Given the description of an element on the screen output the (x, y) to click on. 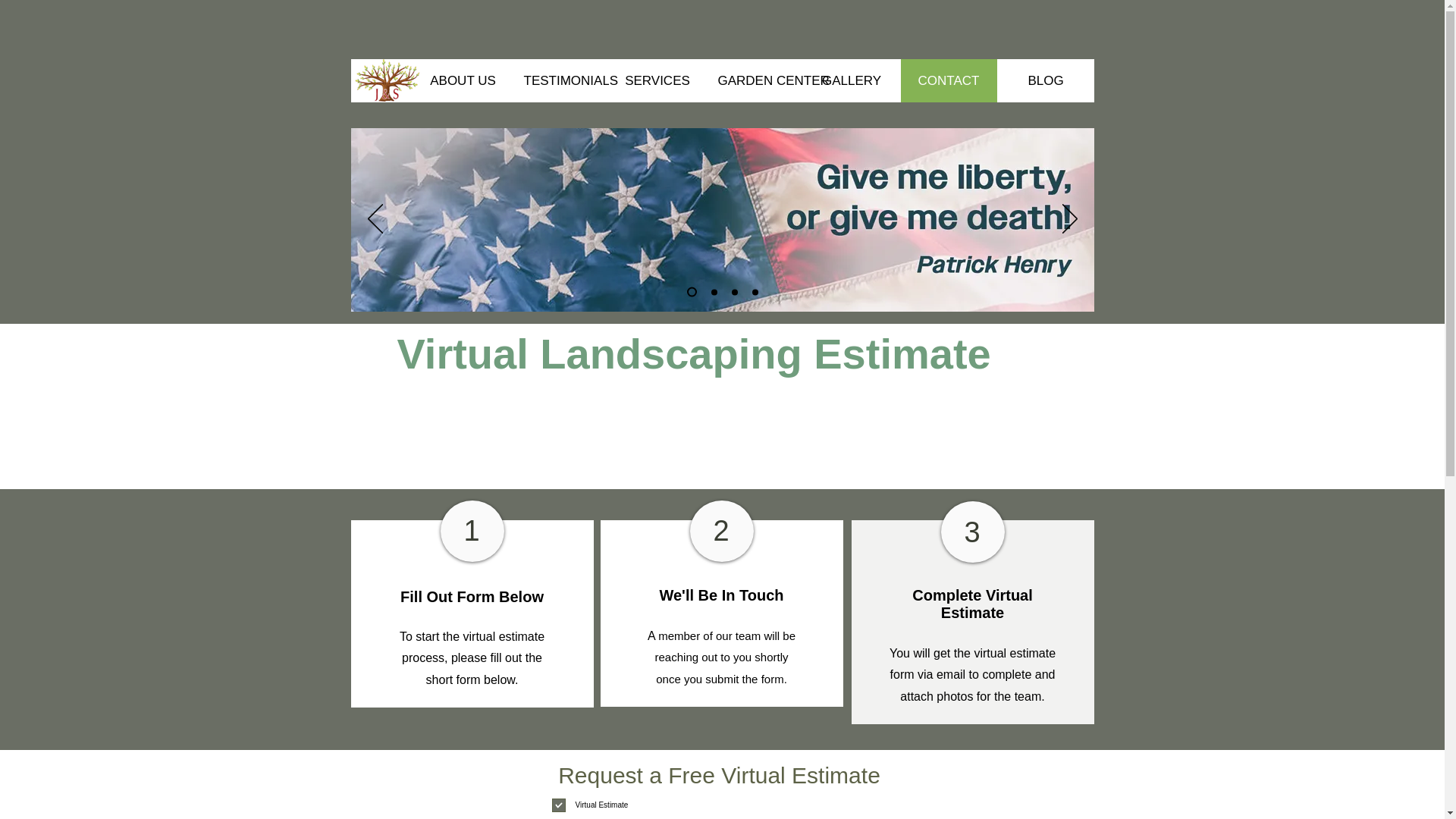
GARDEN CENTER (753, 80)
CONTACT (947, 80)
BLOG (1044, 80)
SERVICES (656, 80)
TESTIMONIALS (559, 80)
ABOUT US (462, 80)
GALLERY (850, 80)
